Given the description of an element on the screen output the (x, y) to click on. 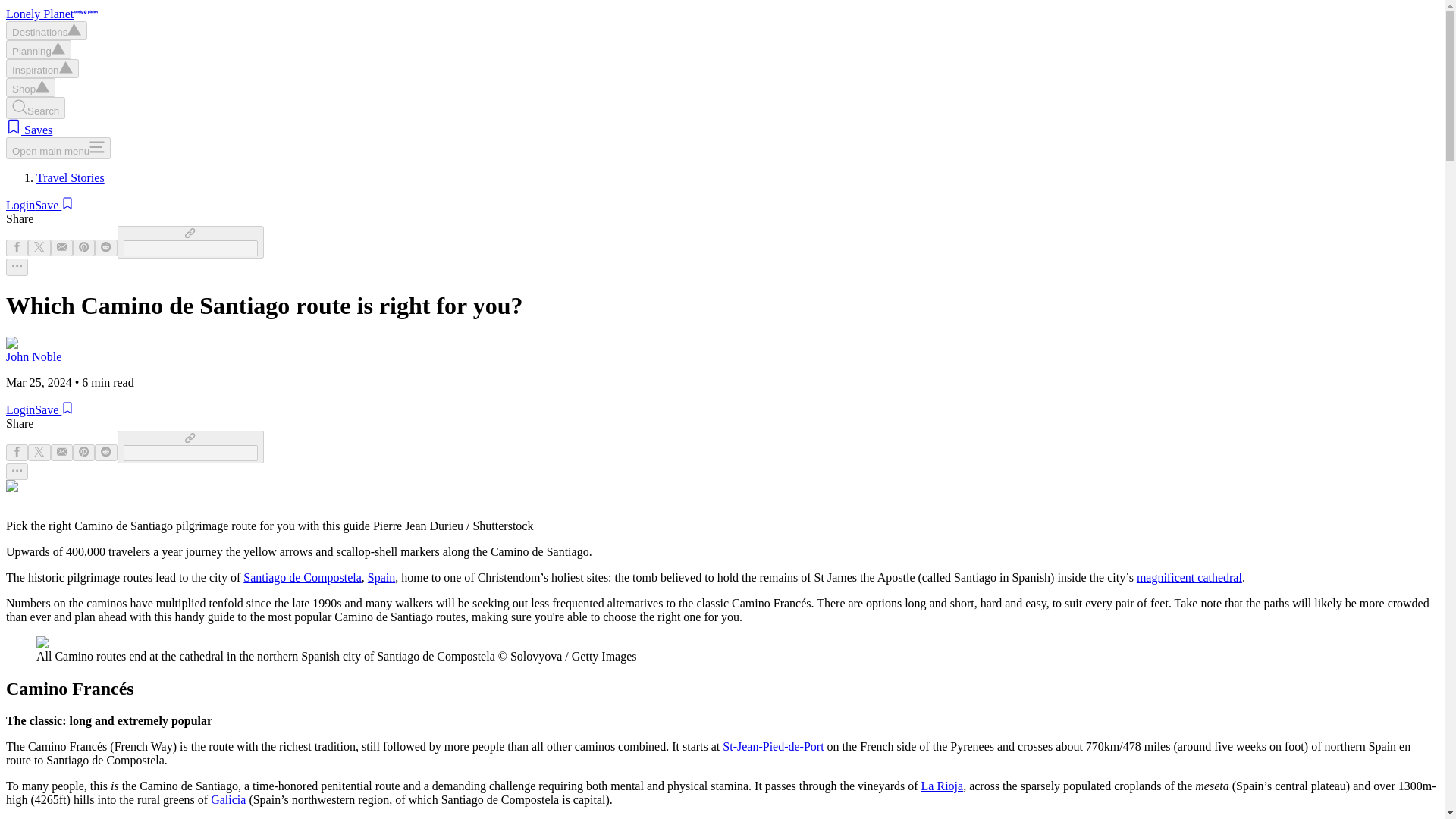
Santiago de Compostela (302, 576)
Inspiration (41, 67)
Open main menu (57, 147)
magnificent cathedral (1189, 576)
Planning (38, 49)
Spain (381, 576)
La Rioja (942, 785)
John Noble (33, 356)
Travel Stories (70, 177)
Saves (28, 129)
Lonely Planet (51, 13)
Destinations (46, 30)
Search (35, 107)
St-Jean-Pied-de-Port (773, 746)
LoginSave (39, 205)
